Given the description of an element on the screen output the (x, y) to click on. 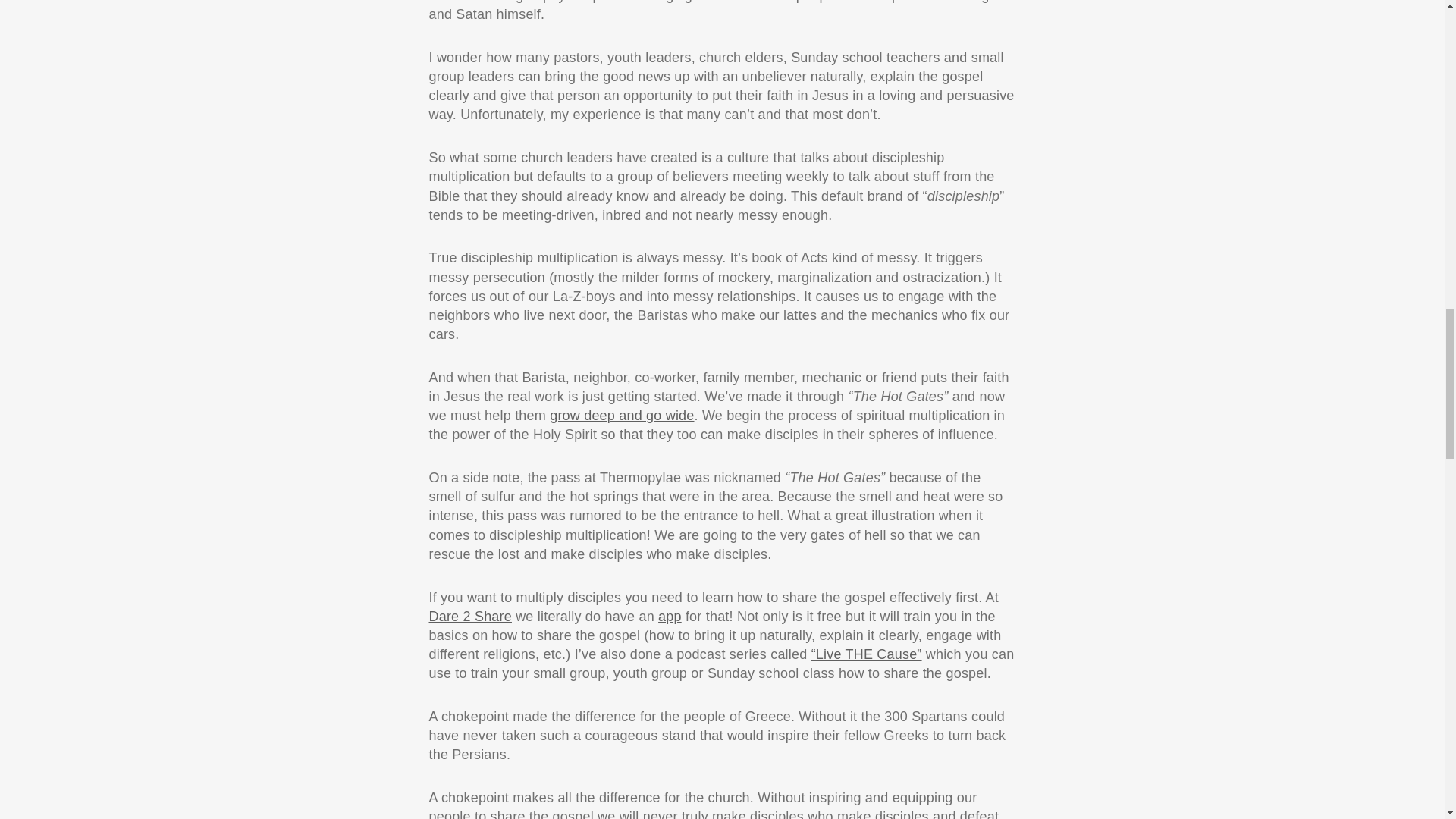
Dare 2 Share (470, 616)
grow deep and go wide (622, 415)
app (669, 616)
